Given the description of an element on the screen output the (x, y) to click on. 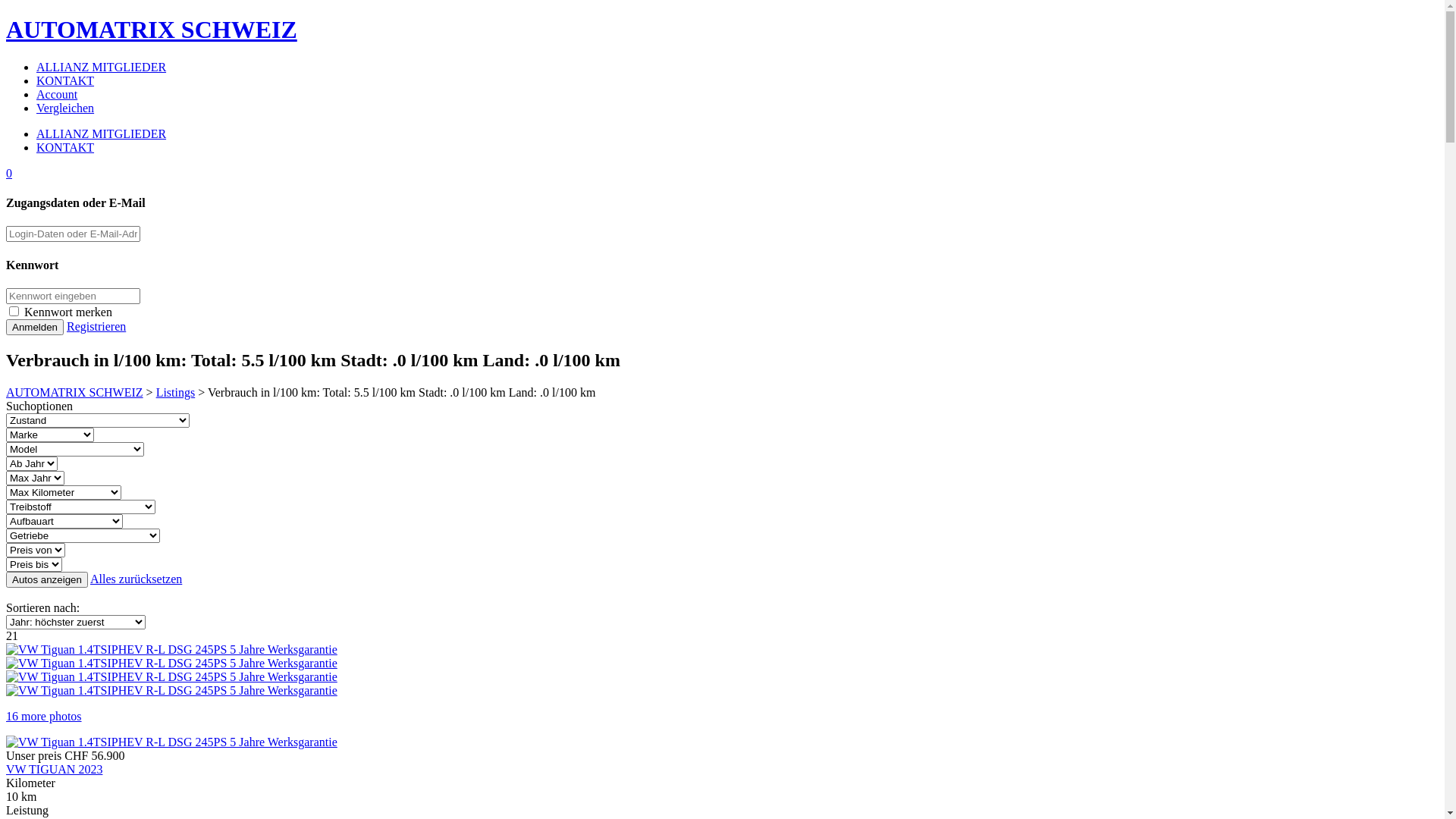
Anmelden Element type: text (34, 327)
AUTOMATRIX SCHWEIZ Element type: text (74, 391)
KONTAKT Element type: text (65, 80)
Account Element type: text (56, 93)
Registrieren Element type: text (95, 326)
AUTOMATRIX SCHWEIZ Element type: text (722, 29)
Vergleichen Element type: text (65, 107)
Listings Element type: text (175, 391)
ALLIANZ MITGLIEDER Element type: text (101, 133)
VW TIGUAN 2023 Element type: text (54, 768)
ALLIANZ MITGLIEDER Element type: text (101, 66)
0 Element type: text (9, 172)
16 more photos Element type: text (722, 696)
KONTAKT Element type: text (65, 147)
Autos anzeigen Element type: text (46, 579)
